Given the description of an element on the screen output the (x, y) to click on. 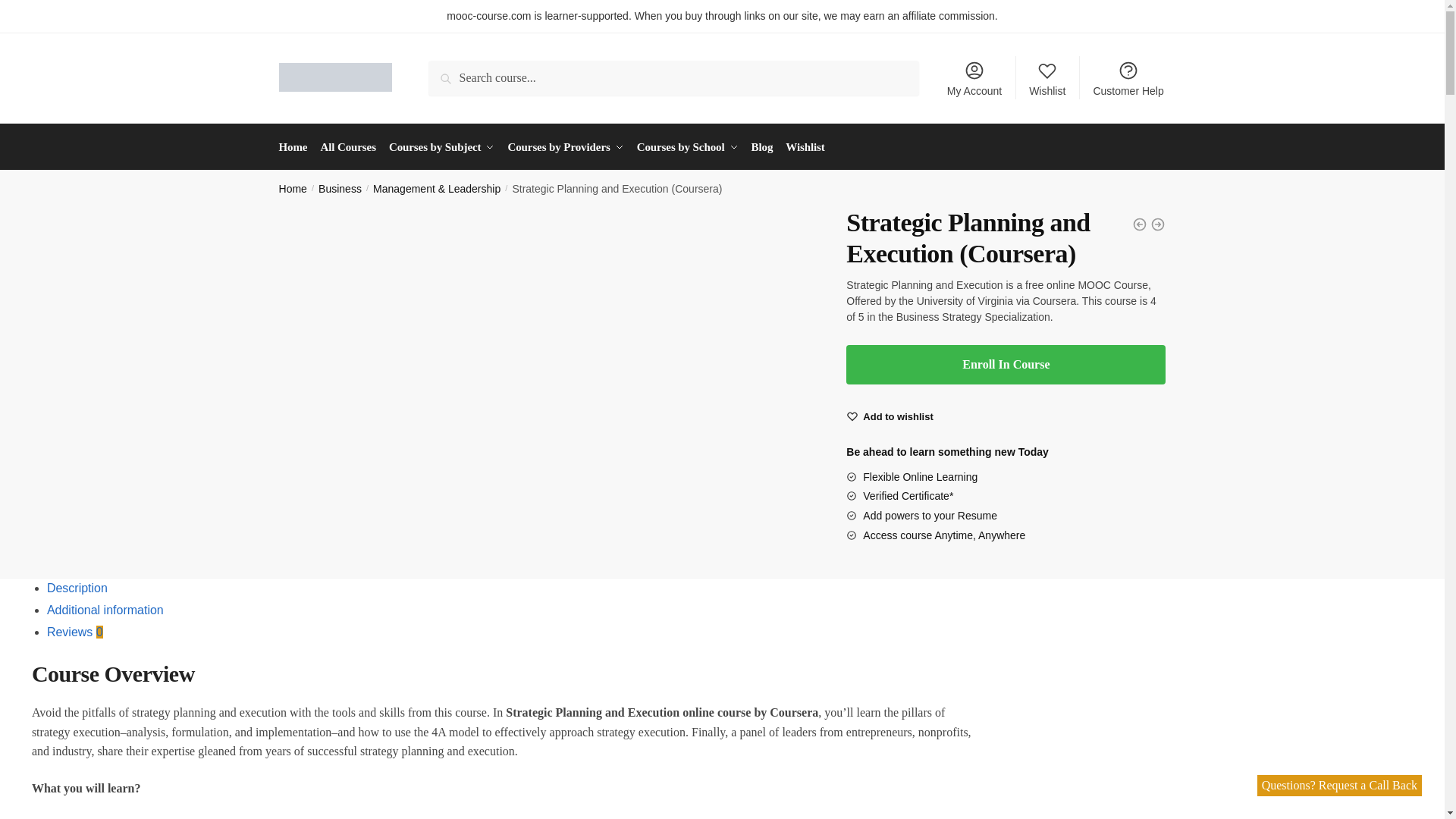
All Courses (347, 146)
Wishlist (1047, 77)
Courses by Providers (565, 146)
Search (449, 70)
Courses by School (687, 146)
Customer Help (1128, 77)
My Account (974, 77)
Courses by Subject (441, 146)
Wishlist (898, 417)
